Given the description of an element on the screen output the (x, y) to click on. 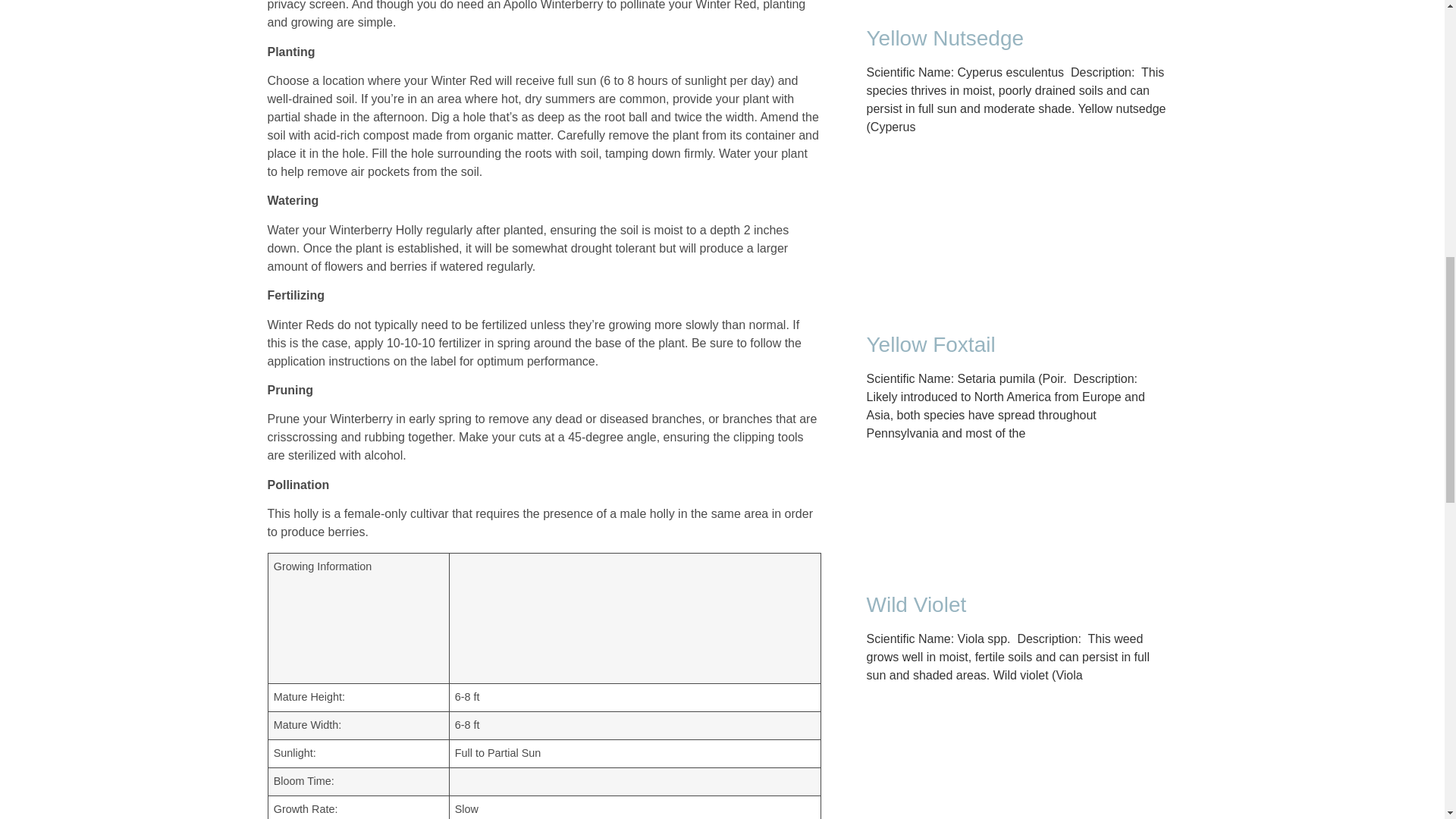
Yellow Foxtail (930, 344)
Winter Red Winterberry Holly 2 (568, 615)
Yellow Nutsedge (944, 37)
Wild Violet (916, 604)
